Given the description of an element on the screen output the (x, y) to click on. 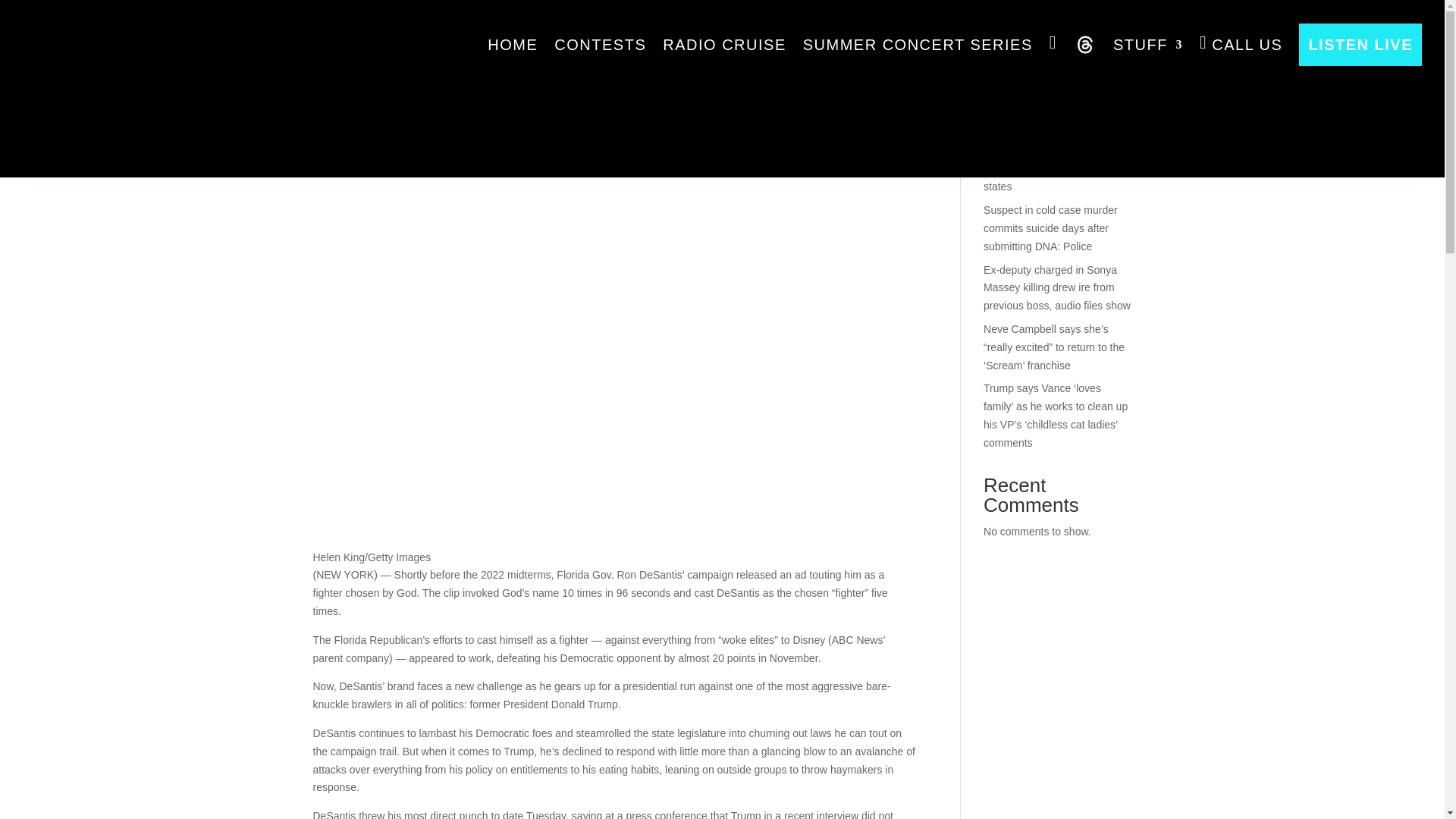
RADIO CRUISE (724, 44)
CONTESTS (600, 44)
SUMMER CONCERT SERIES (917, 44)
Posts by admin (340, 105)
Search (1106, 59)
Politics (454, 105)
admin (340, 105)
